Given the description of an element on the screen output the (x, y) to click on. 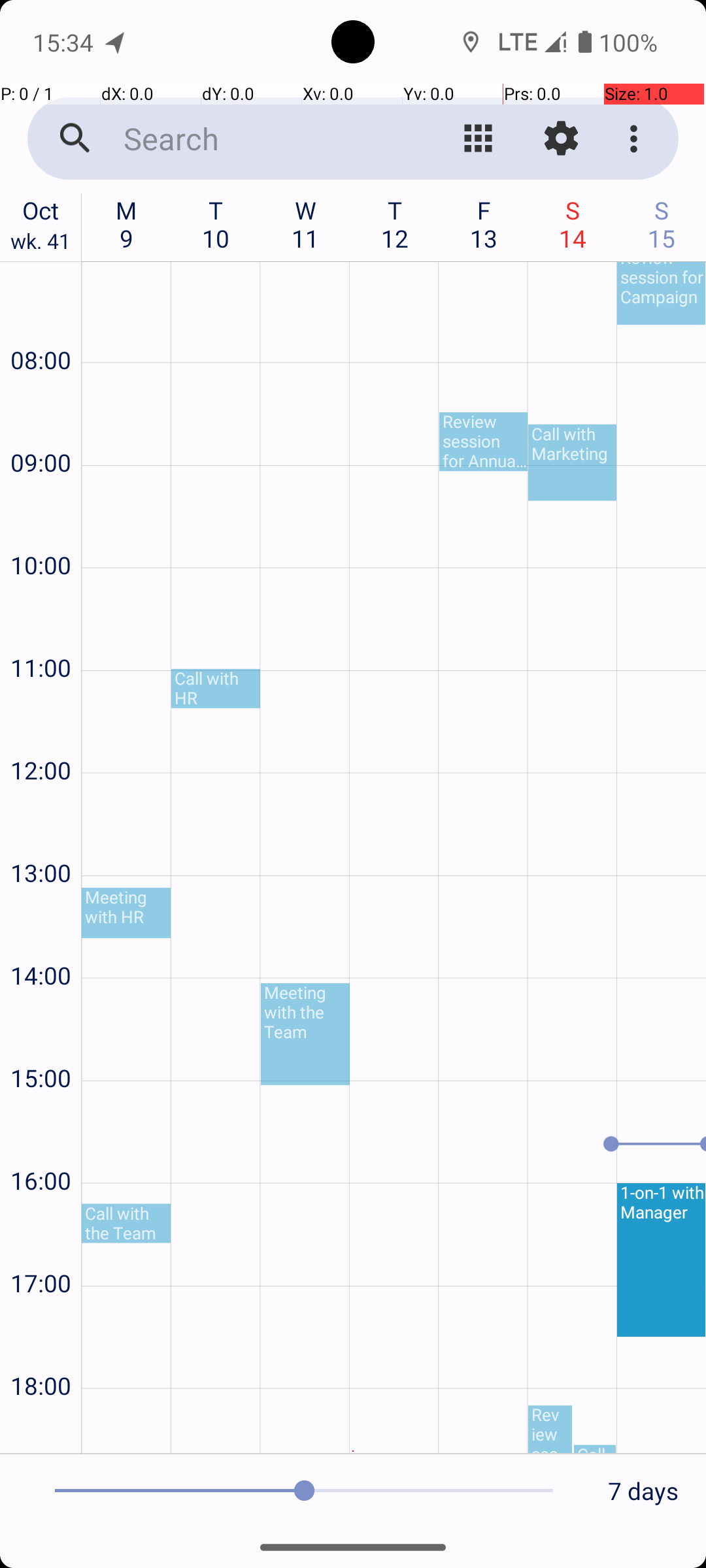
1-on-1 with Manager Element type: android.widget.TextView (661, 1259)
